Given the description of an element on the screen output the (x, y) to click on. 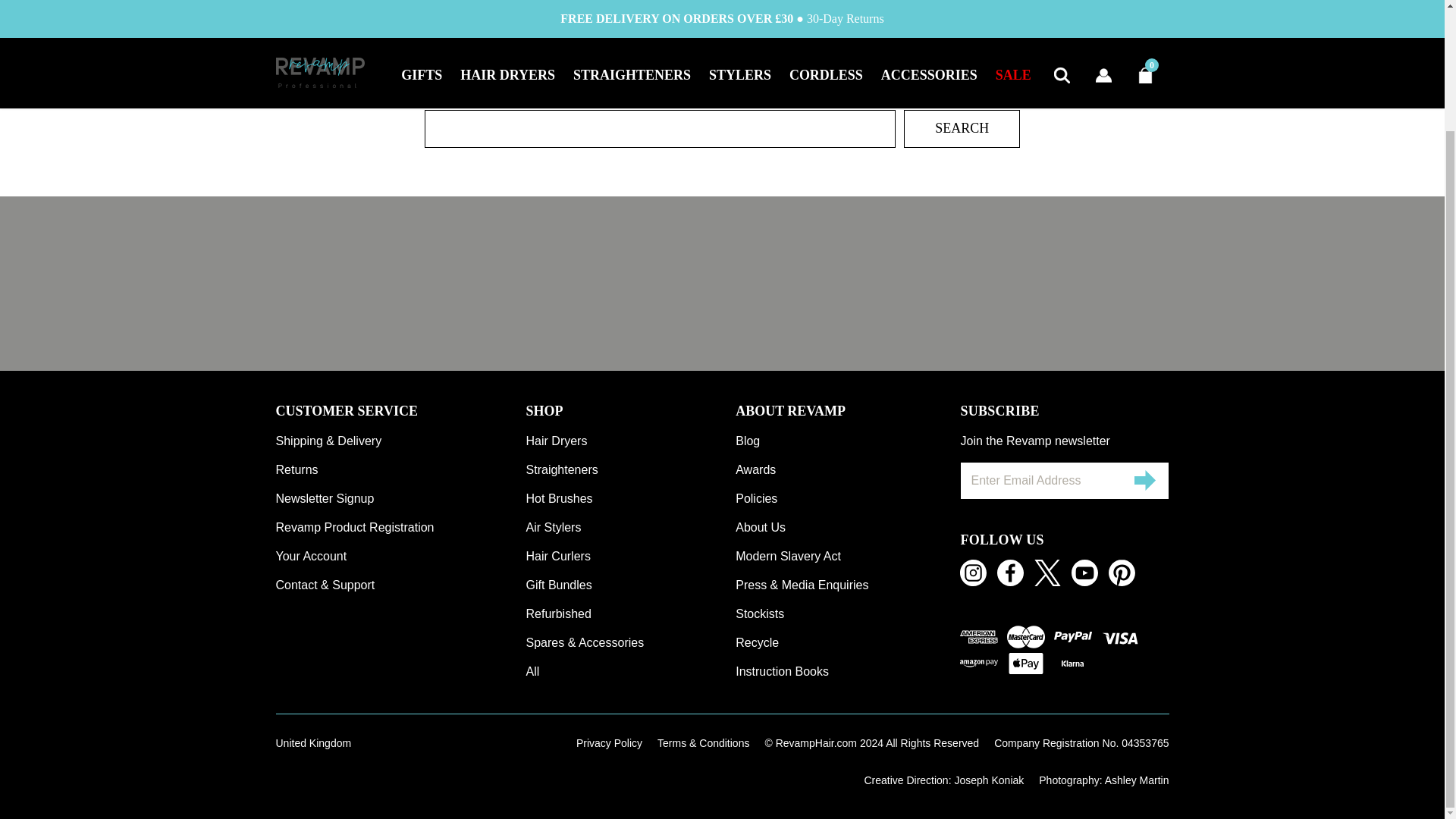
Newsletter Signup (400, 498)
Customer reviews powered by Trustpilot (722, 283)
Revamp Product Registration (400, 526)
Returns (400, 469)
CUSTOMER SERVICE (400, 410)
Search (962, 127)
Search (962, 127)
